Given the description of an element on the screen output the (x, y) to click on. 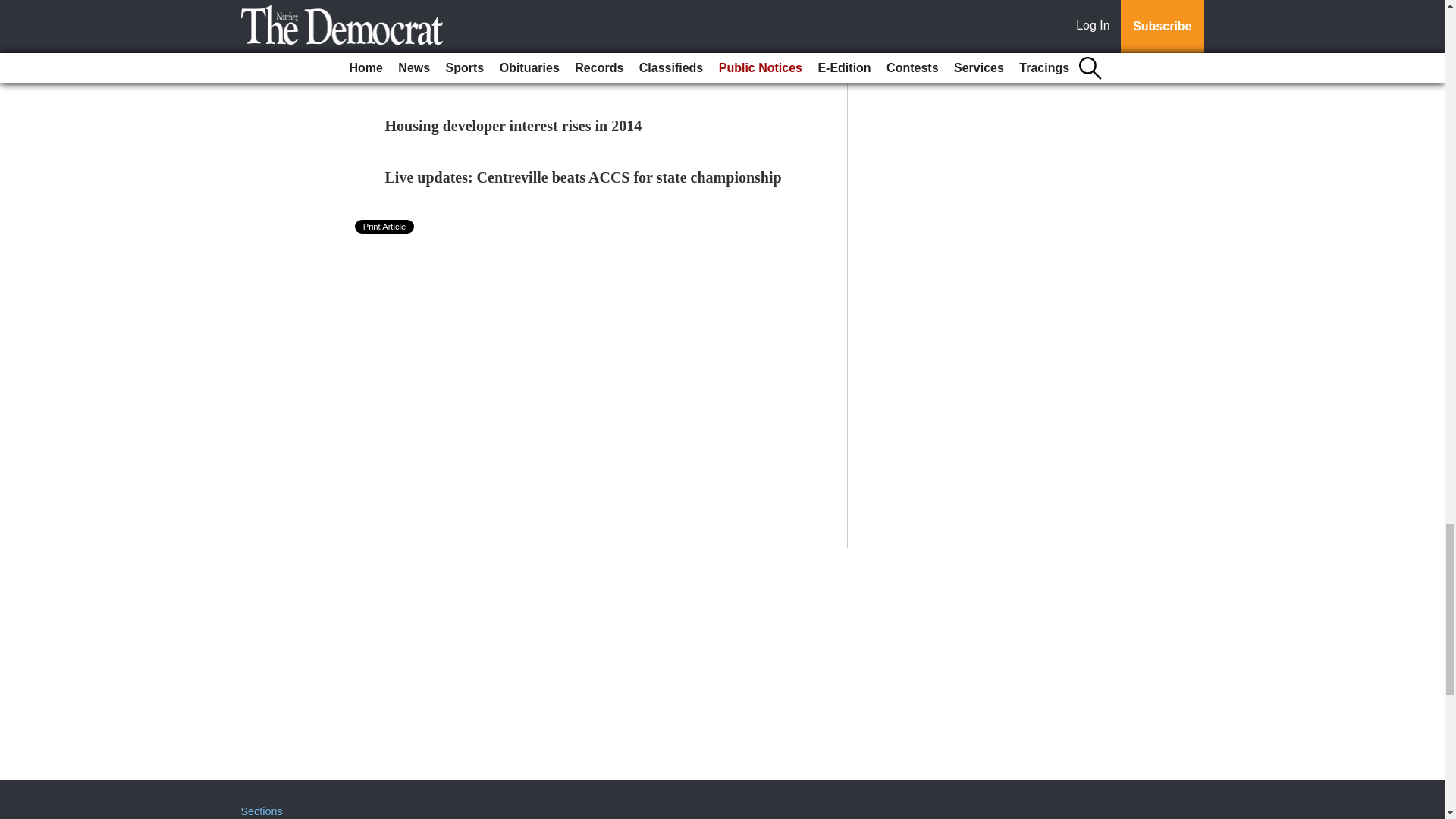
Print Article (384, 226)
Live updates: Centreville beats ACCS for state championship (583, 176)
Housing developer interest rises in 2014 (513, 125)
Clara Maria Thompson Williams (492, 22)
Parents asked to use online system (496, 74)
Live updates: Centreville beats ACCS for state championship (583, 176)
Clara Maria Thompson Williams (492, 22)
Housing developer interest rises in 2014 (513, 125)
Parents asked to use online system (496, 74)
